Given the description of an element on the screen output the (x, y) to click on. 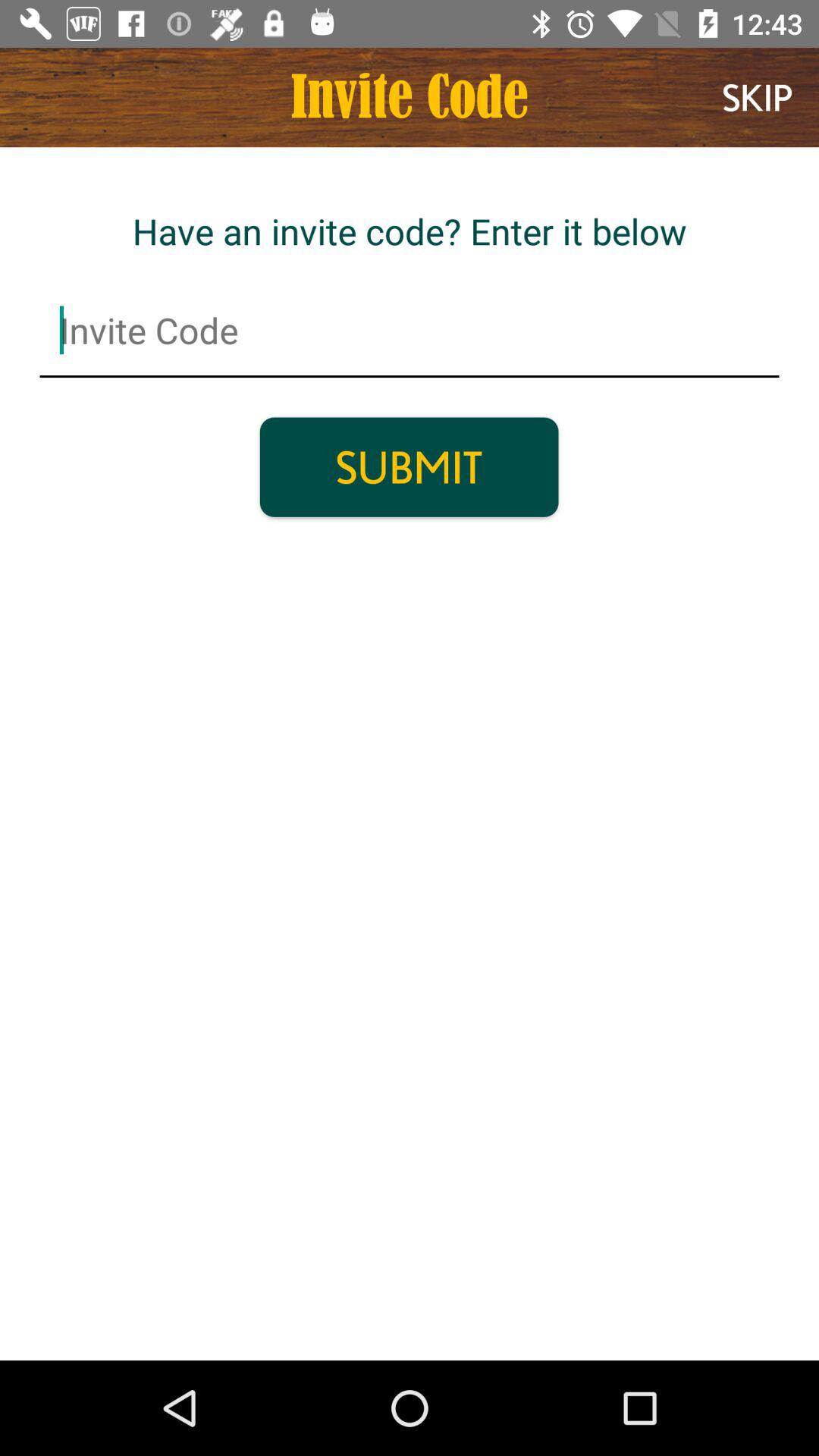
select item below have an invite item (409, 330)
